Given the description of an element on the screen output the (x, y) to click on. 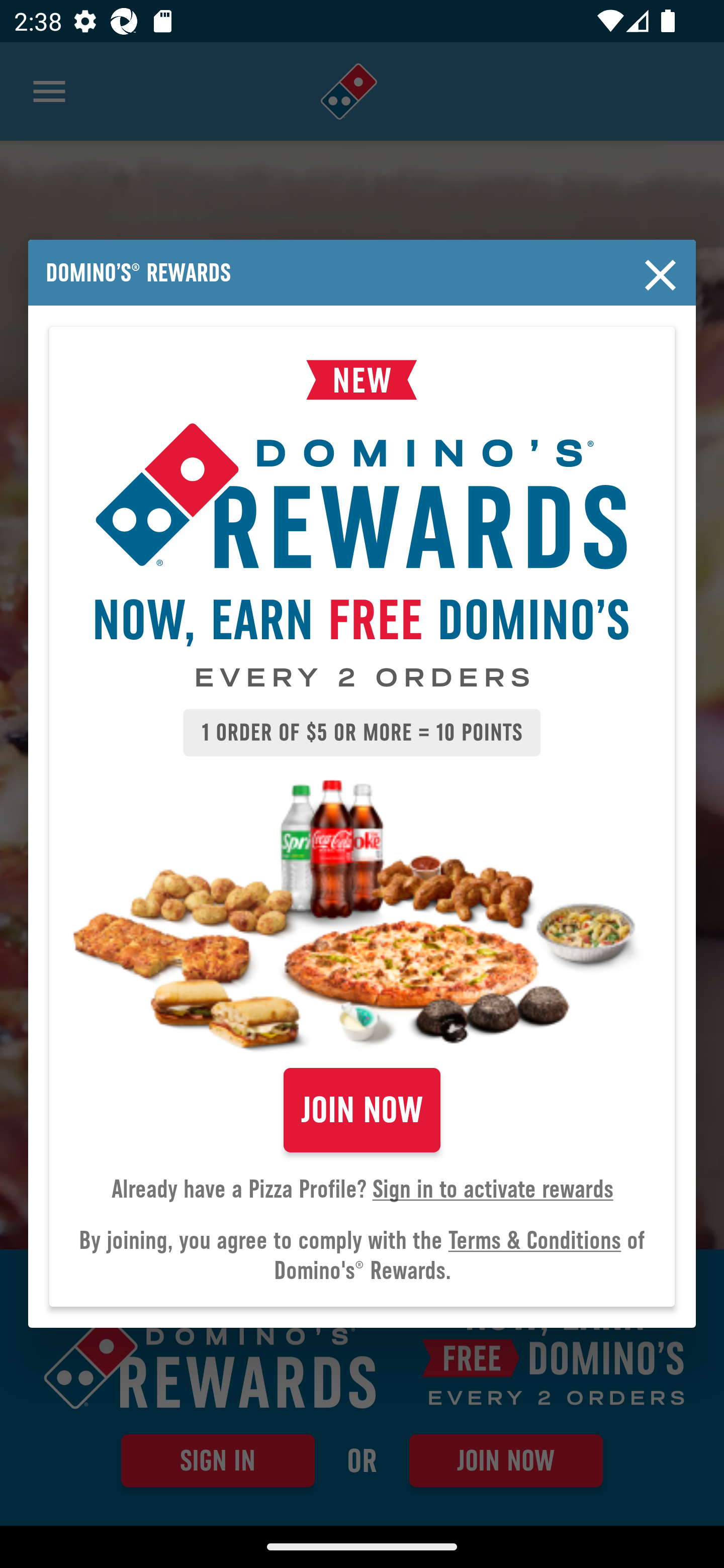
Close (660, 275)
JOIN NOW (361, 1109)
